Given the description of an element on the screen output the (x, y) to click on. 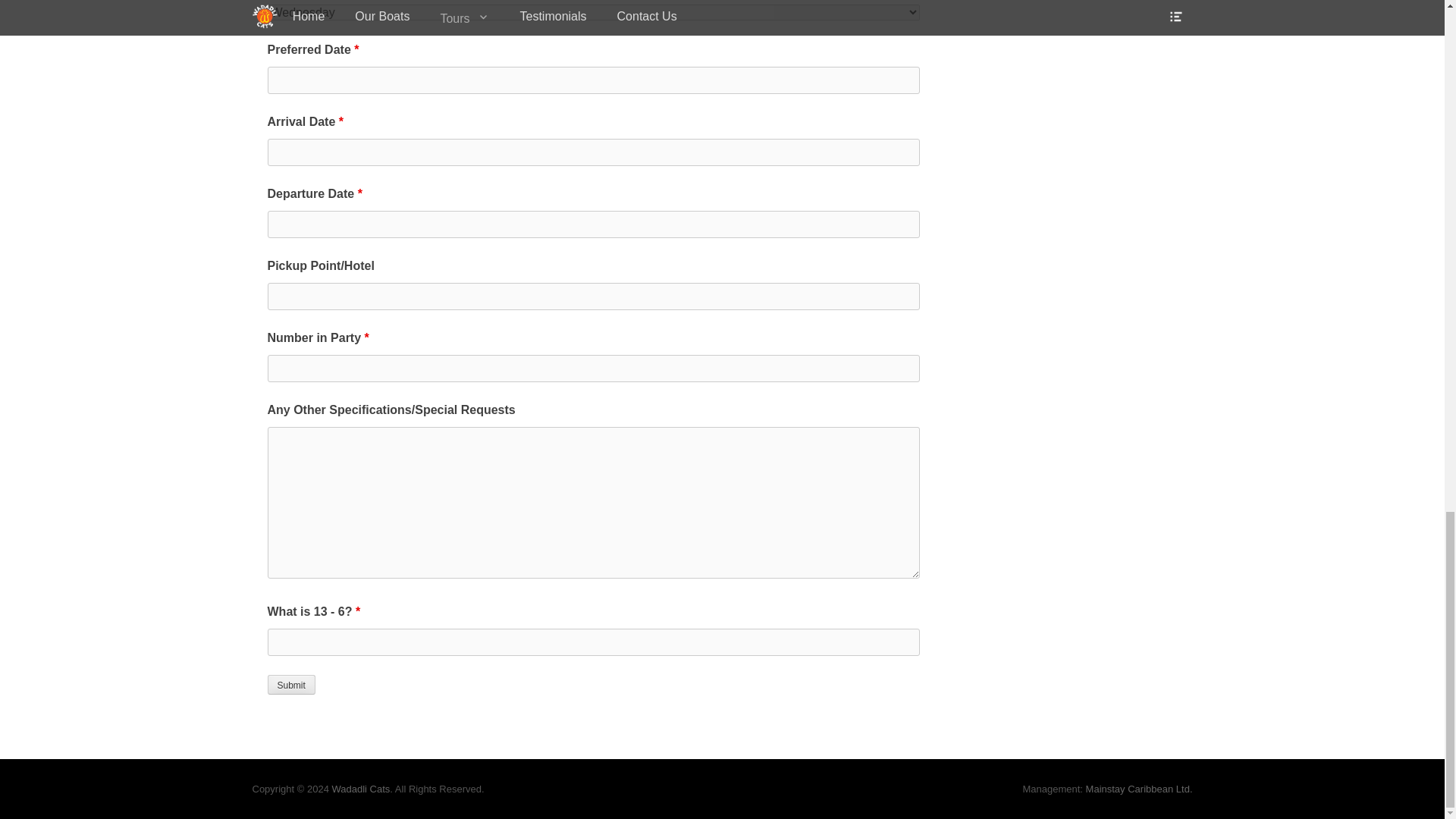
Submit (290, 684)
Submit (290, 684)
Wadadli Cats (360, 788)
Mainstay Caribbean Ltd. (1139, 788)
